Given the description of an element on the screen output the (x, y) to click on. 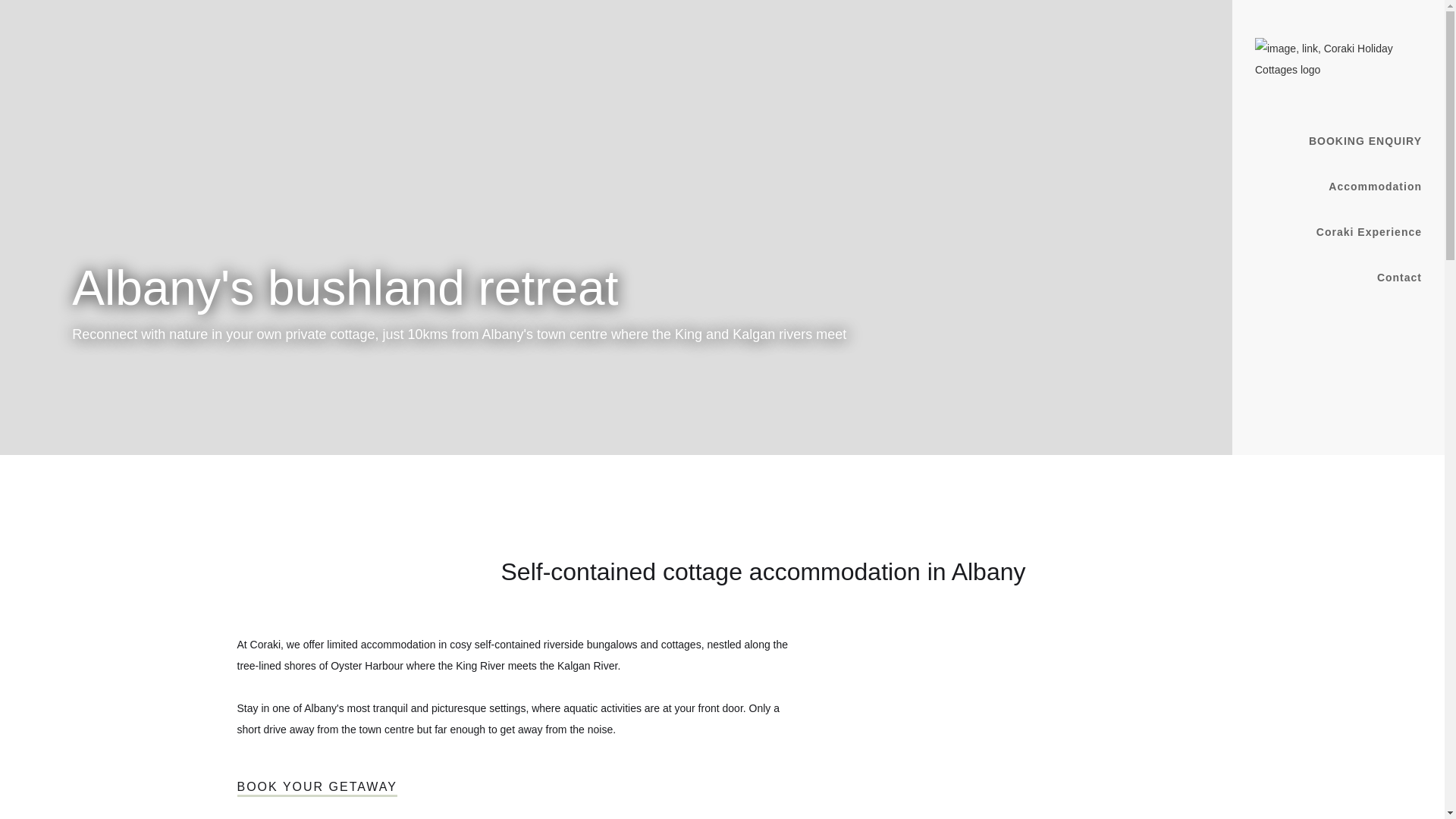
Contact Element type: text (1399, 277)
BOOK YOUR GETAWAY Element type: text (316, 788)
Accommodation Element type: text (1375, 186)
Coraki Experience Element type: text (1369, 231)
BOOKING ENQUIRY Element type: text (1365, 140)
